Given the description of an element on the screen output the (x, y) to click on. 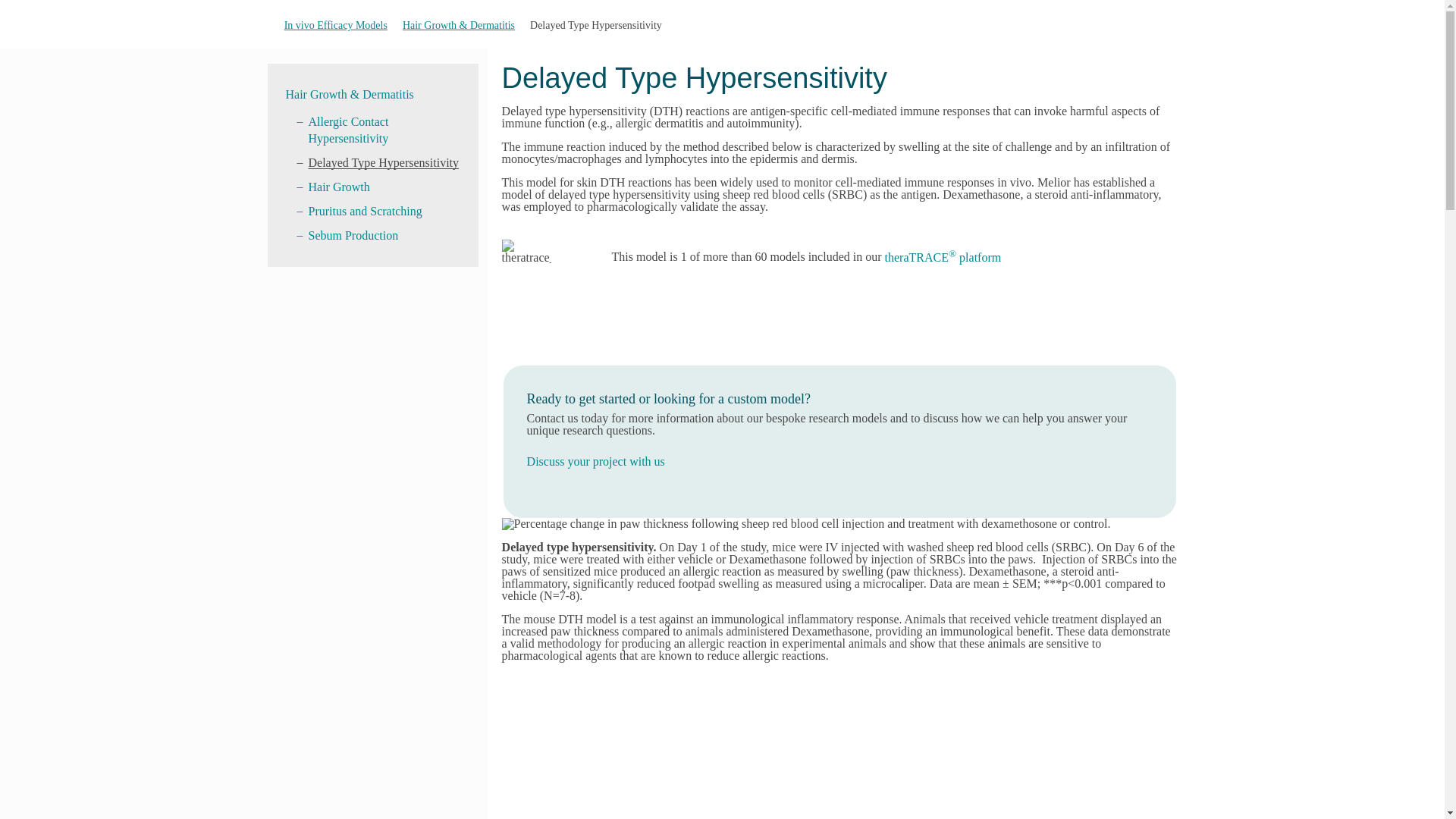
Delayed Type Hypersensitivity (382, 162)
Sebum Production (352, 235)
In vivo Efficacy Models (335, 25)
Allergic Contact Hypersensitivity (347, 129)
Hair Growth (338, 186)
Discuss your project with us (596, 461)
Pruritus and Scratching (364, 210)
Delayed Type Hypersensitivity (595, 25)
